Given the description of an element on the screen output the (x, y) to click on. 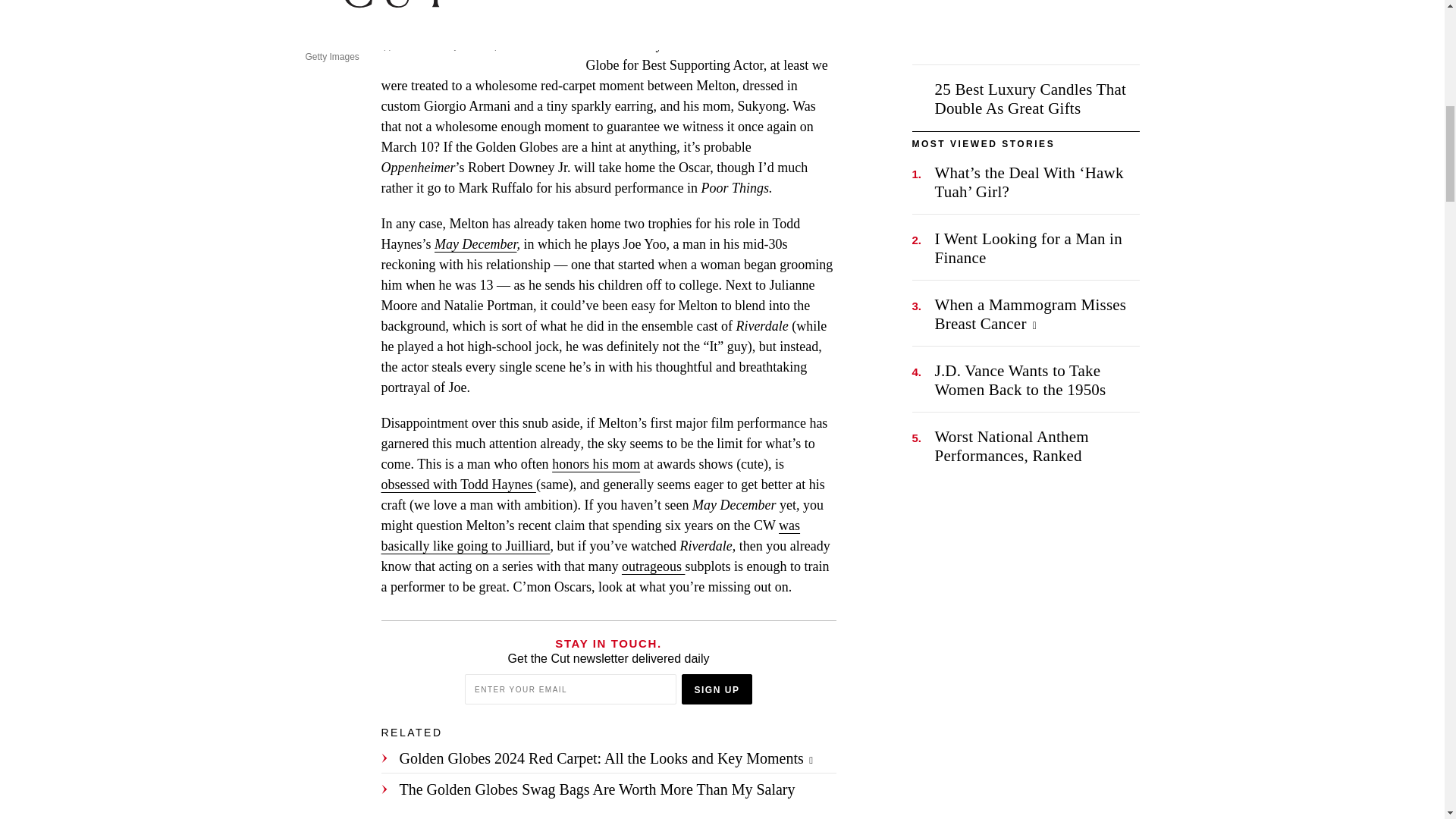
Sign up (716, 689)
